Given the description of an element on the screen output the (x, y) to click on. 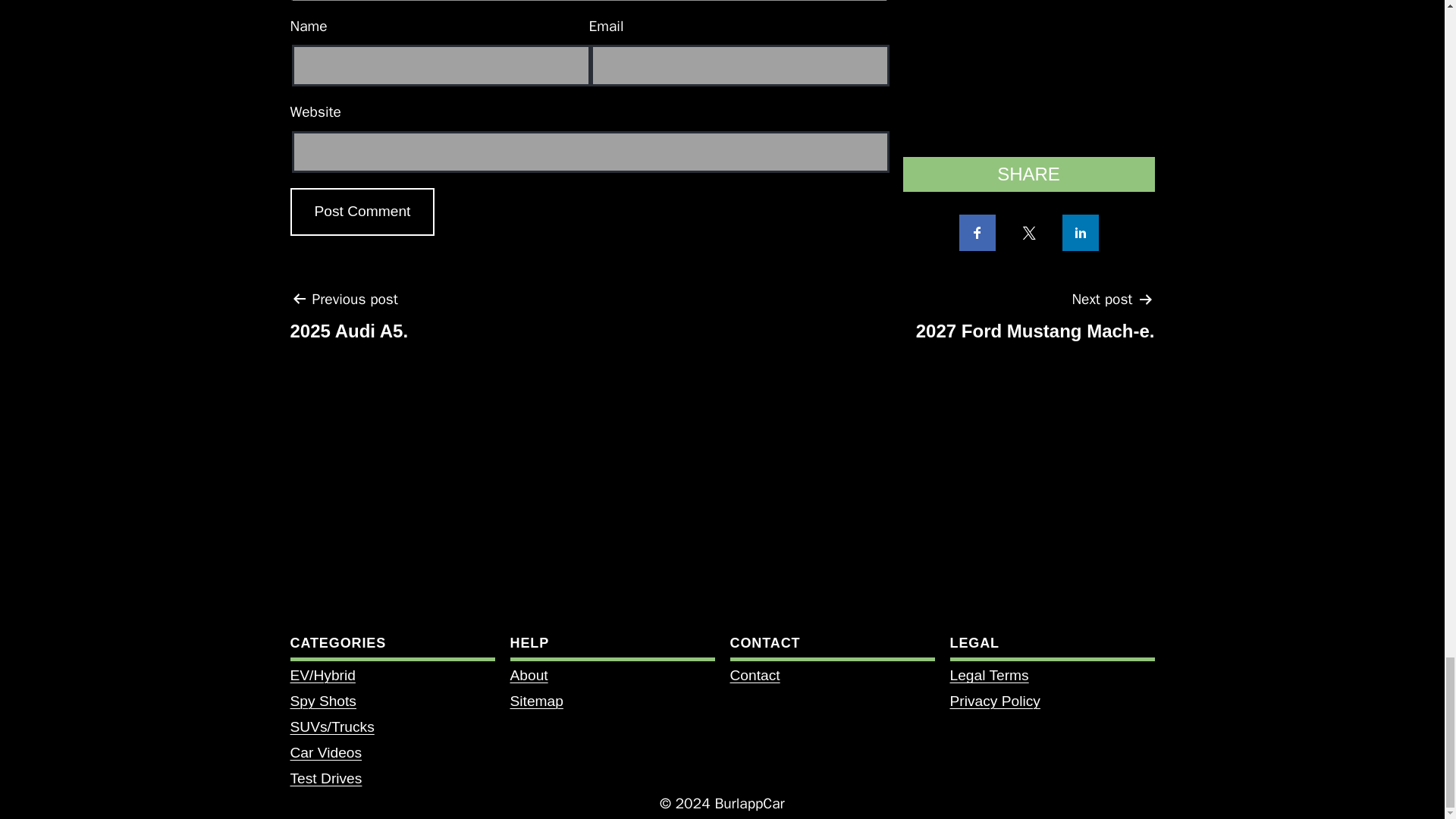
Post Comment (361, 211)
About (528, 675)
Post Comment (1034, 320)
Spy Shots (361, 211)
Test Drives (322, 700)
Legal Terms (325, 778)
Contact (988, 675)
Car Videos (753, 675)
Sitemap (325, 752)
Car Videos (535, 700)
Privacy Policy (325, 752)
Spy Shots (348, 320)
